Given the description of an element on the screen output the (x, y) to click on. 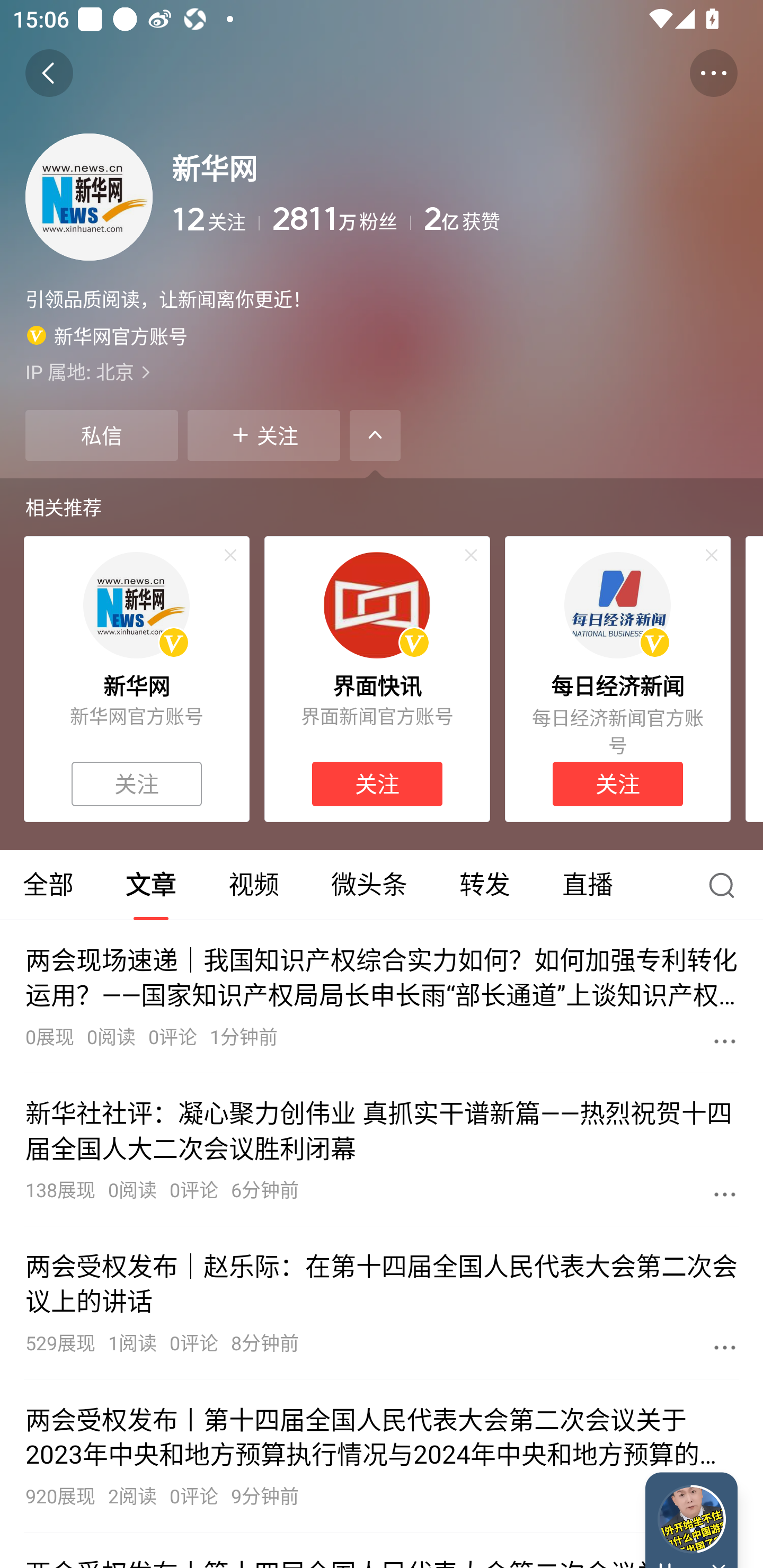
返回 (49, 72)
更多操作 (713, 72)
头像 (88, 196)
12 关注 (215, 219)
2811万 粉丝 (341, 219)
2亿 获赞 (580, 219)
新华网官方账号 (106, 335)
IP 属地: 北京 (381, 371)
私信 (101, 434)
     关注 (263, 434)
展开相关推荐，按钮 (374, 434)
新华网头像 新华网 新华网官方账号 关注 关注 不感兴趣 (136, 678)
不感兴趣 (230, 554)
界面快讯头像 界面快讯 界面新闻官方账号 关注 关注 不感兴趣 (376, 678)
不感兴趣 (470, 554)
每日经济新闻头像 每日经济新闻 每日经济新闻官方账号 关注 关注 不感兴趣 (617, 678)
不感兴趣 (711, 554)
新华网头像 (136, 604)
界面快讯头像 (376, 604)
每日经济新闻头像 (617, 604)
关注 (136, 783)
关注 (377, 783)
关注 (617, 783)
全部 (49, 884)
文章 (150, 884)
视频 (253, 884)
微头条 (369, 884)
转发 (484, 884)
直播 (587, 884)
搜索 (726, 884)
更多 (724, 1040)
更多 (724, 1193)
更多 (724, 1346)
当前进度 47% (691, 1518)
